Given the description of an element on the screen output the (x, y) to click on. 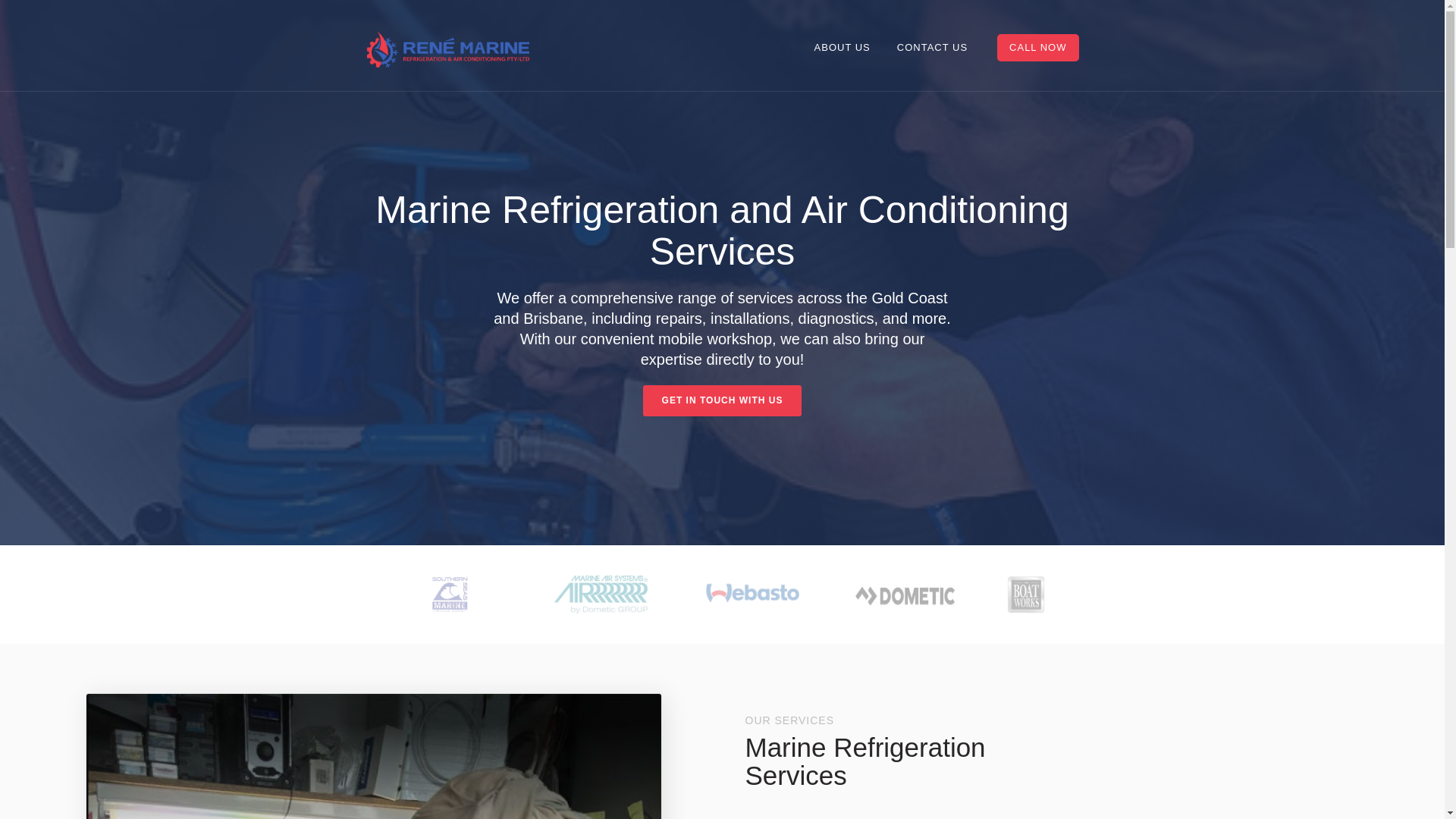
CONTACT US Element type: text (931, 47)
ABOUT US Element type: text (842, 47)
GET IN TOUCH WITH US Element type: text (722, 400)
CALL NOW Element type: text (1037, 47)
